Given the description of an element on the screen output the (x, y) to click on. 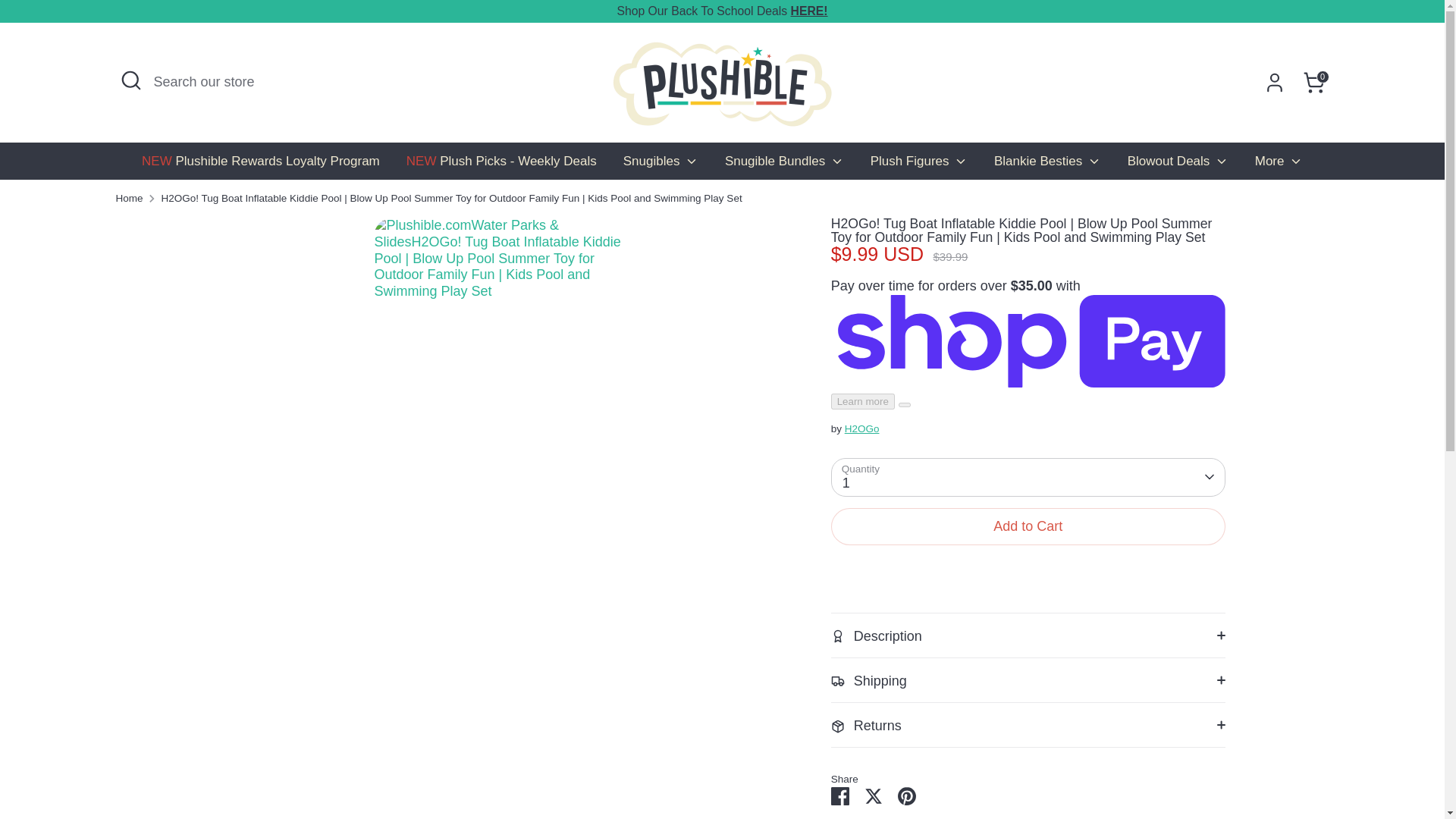
HERE! (809, 10)
0 (1312, 82)
Plushible Back To School Deals (809, 10)
